Given the description of an element on the screen output the (x, y) to click on. 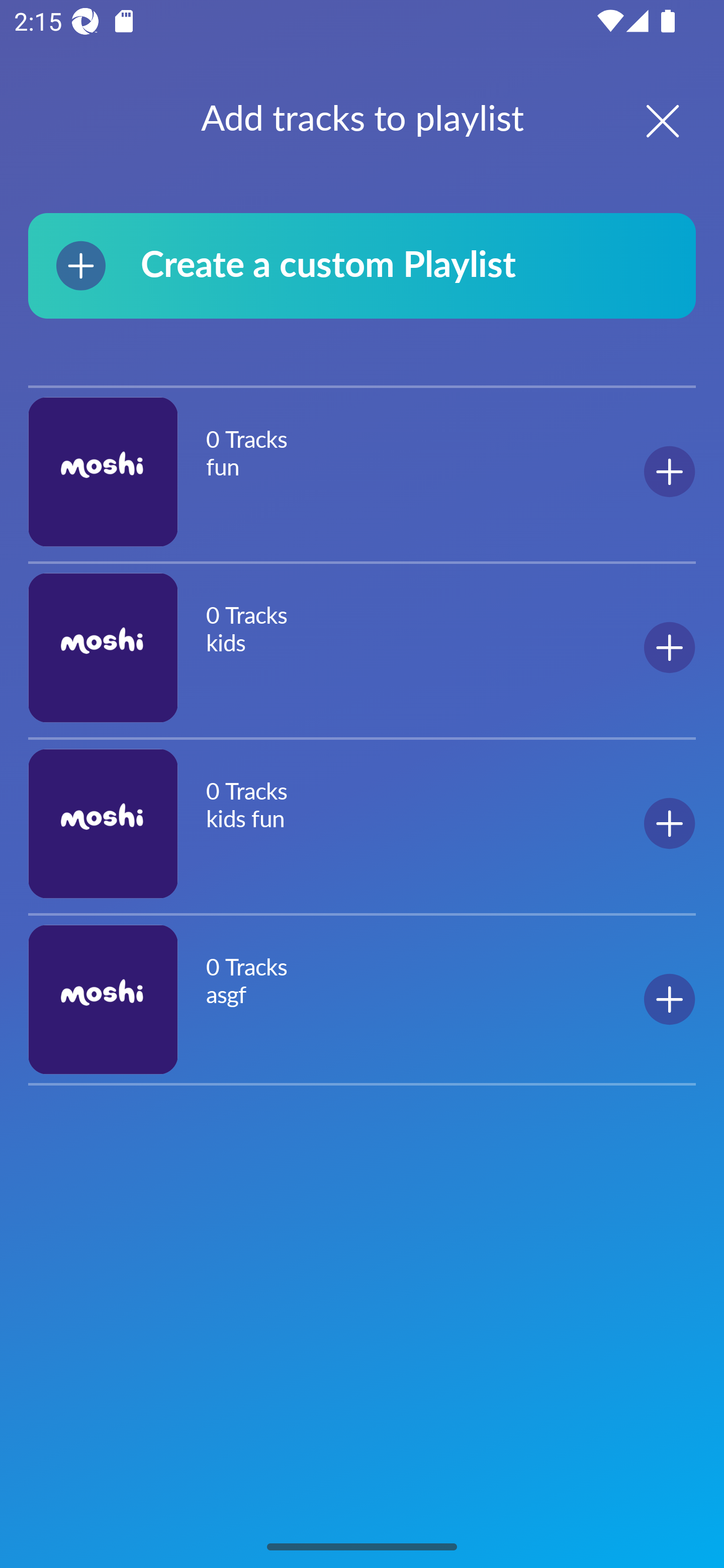
Close (645, 120)
Create a custom Playlist (361, 265)
0 Tracks fun (361, 471)
0 Tracks kids (361, 647)
0 Tracks kids fun (361, 823)
0 Tracks asgf (361, 998)
